Given the description of an element on the screen output the (x, y) to click on. 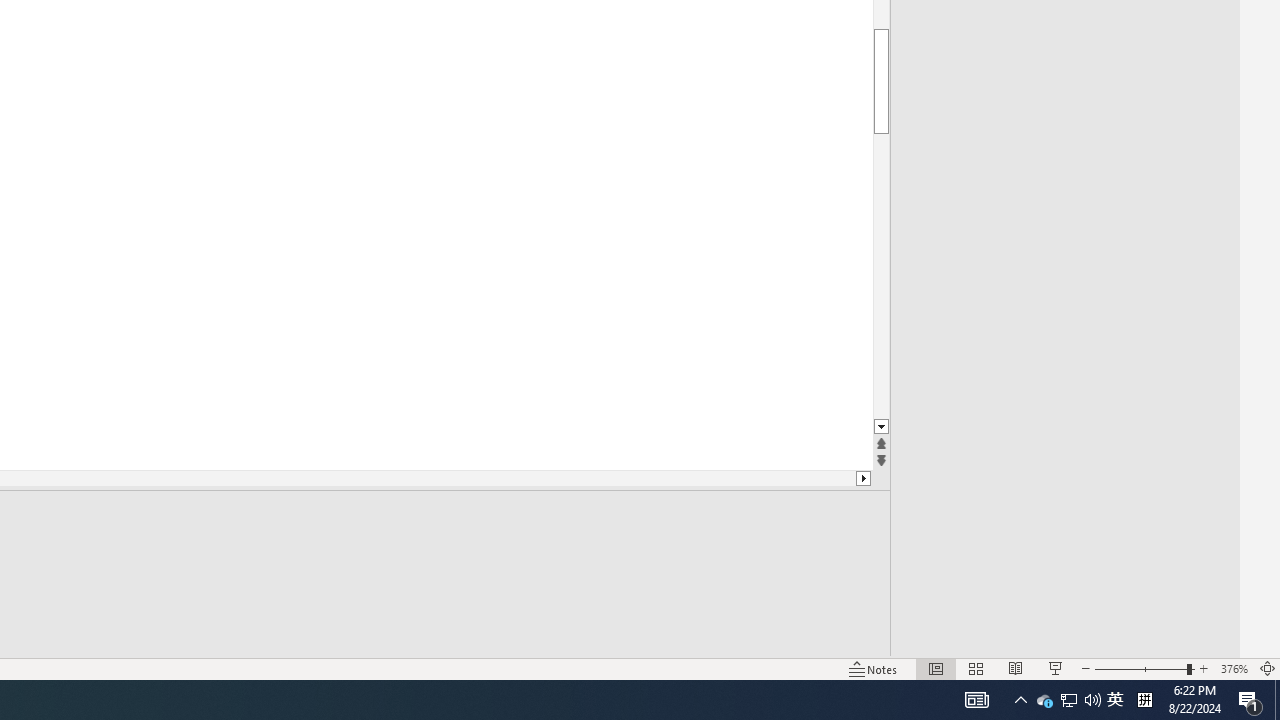
Zoom 376% (1234, 668)
